Given the description of an element on the screen output the (x, y) to click on. 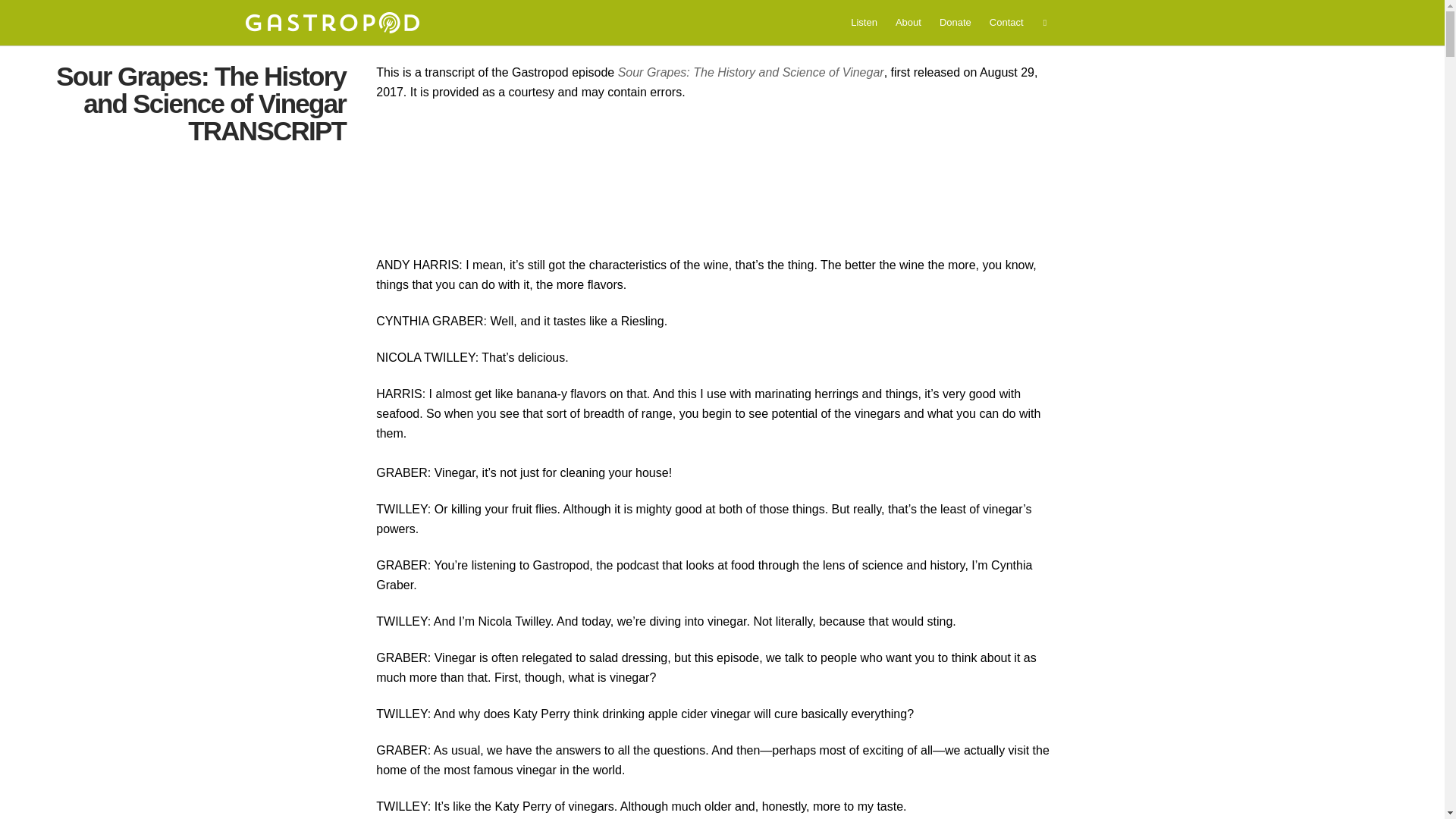
Search for: (1046, 22)
About (908, 22)
Gastropod (331, 22)
Search (21, 7)
Donate (954, 22)
Sour Grapes: The History and Science of Vinegar (750, 72)
Contact (1005, 22)
Listen (863, 22)
Sour Grapes: The History and Science of Vinegar TRANSCRIPT (201, 103)
